Given the description of an element on the screen output the (x, y) to click on. 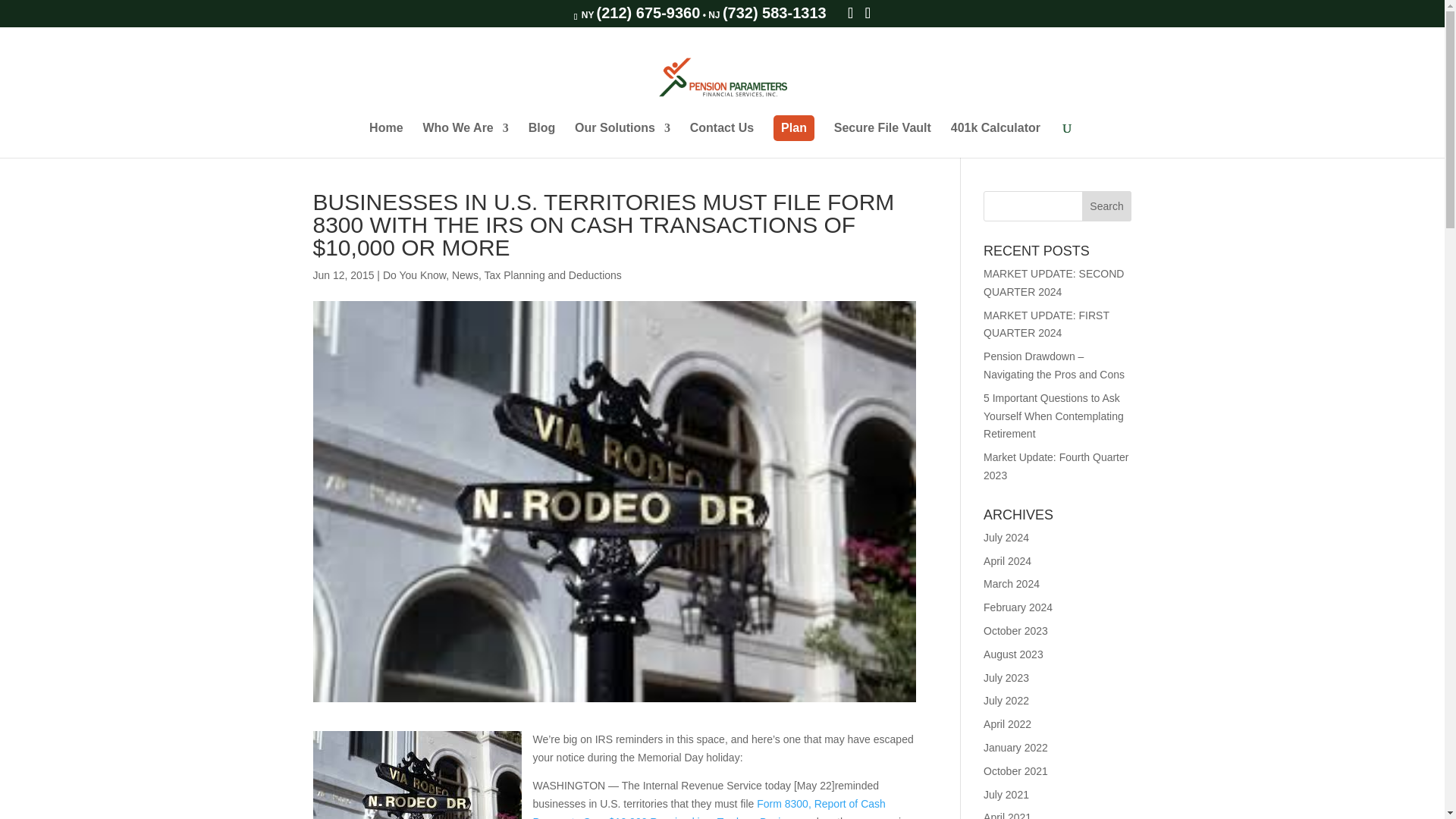
News (465, 275)
New Plan Login (793, 127)
401k Calculator (995, 140)
Contact Us (722, 140)
Secure File Vault (882, 140)
401k Savings Calculator (995, 140)
Home (386, 140)
About Us (465, 140)
Who We Are (465, 140)
Plan (793, 127)
Tax Planning and Deductions (552, 275)
Our Solutions (622, 140)
Do You Know (413, 275)
Search (1106, 205)
